Given the description of an element on the screen output the (x, y) to click on. 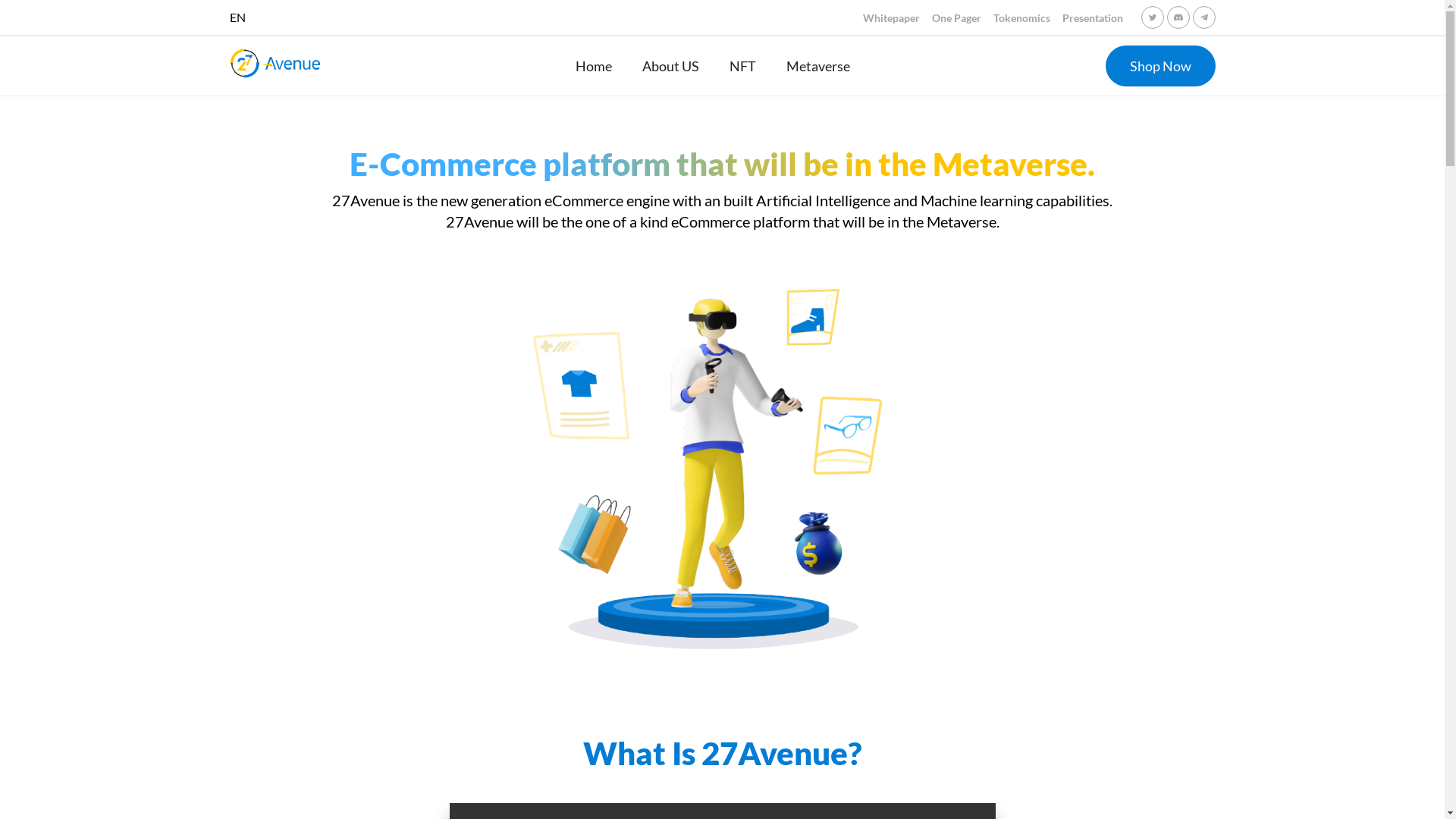
Home Element type: text (593, 65)
Shop Now Element type: text (1160, 65)
Whitepaper Element type: text (890, 17)
About US Element type: text (670, 65)
Metaverse Element type: text (818, 65)
NFT Element type: text (742, 65)
Presentation Element type: text (1091, 17)
One Pager Element type: text (955, 17)
Tokenomics Element type: text (1021, 17)
